Given the description of an element on the screen output the (x, y) to click on. 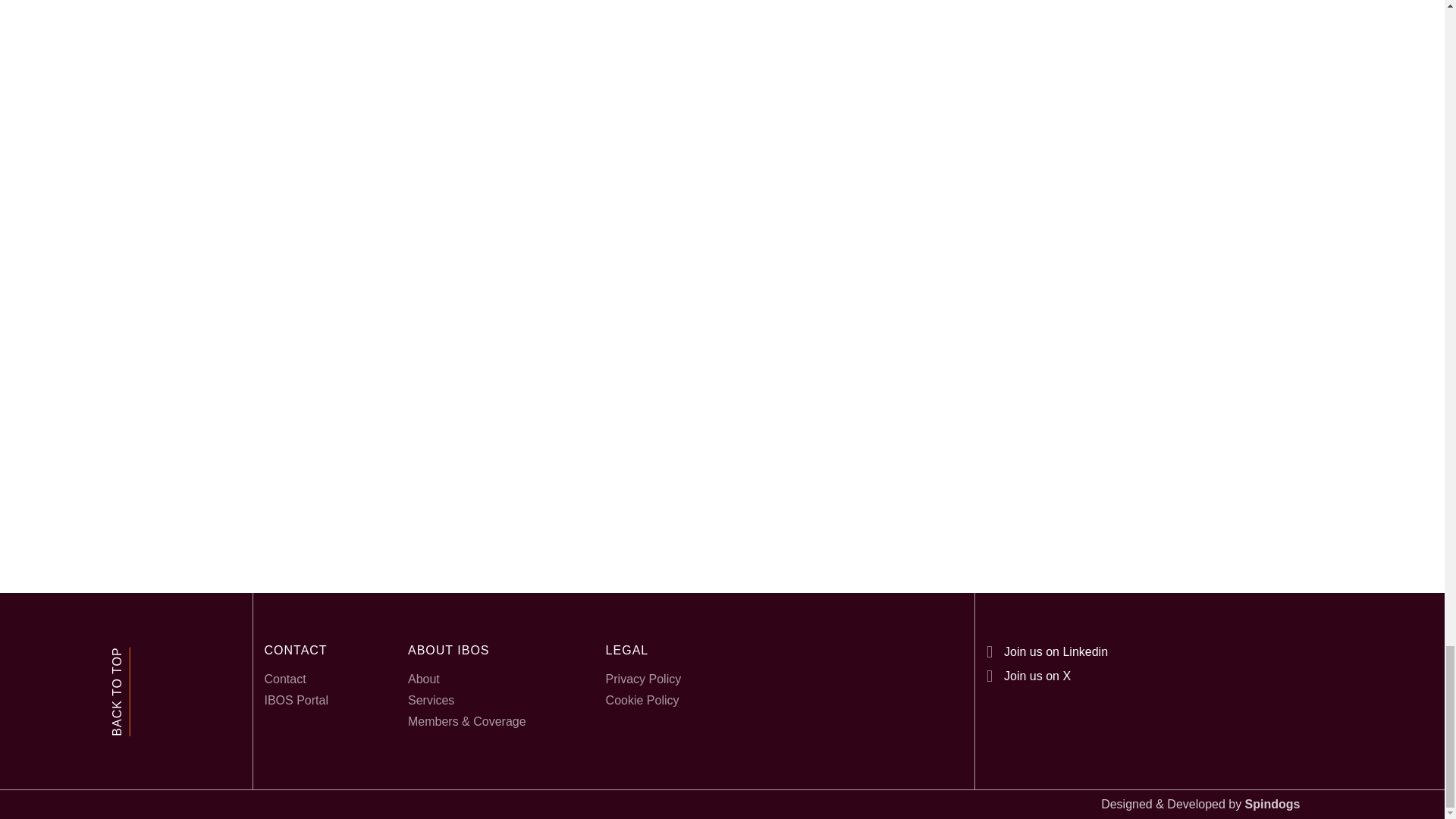
About (466, 679)
LEGAL (643, 650)
ABOUT IBOS (466, 650)
IBOS Portal (295, 700)
Cookie Policy (643, 700)
Join us on X (1028, 676)
Services (466, 700)
Privacy Policy (643, 679)
BACK TO TOP (154, 656)
BACK TO TOP (120, 690)
